Given the description of an element on the screen output the (x, y) to click on. 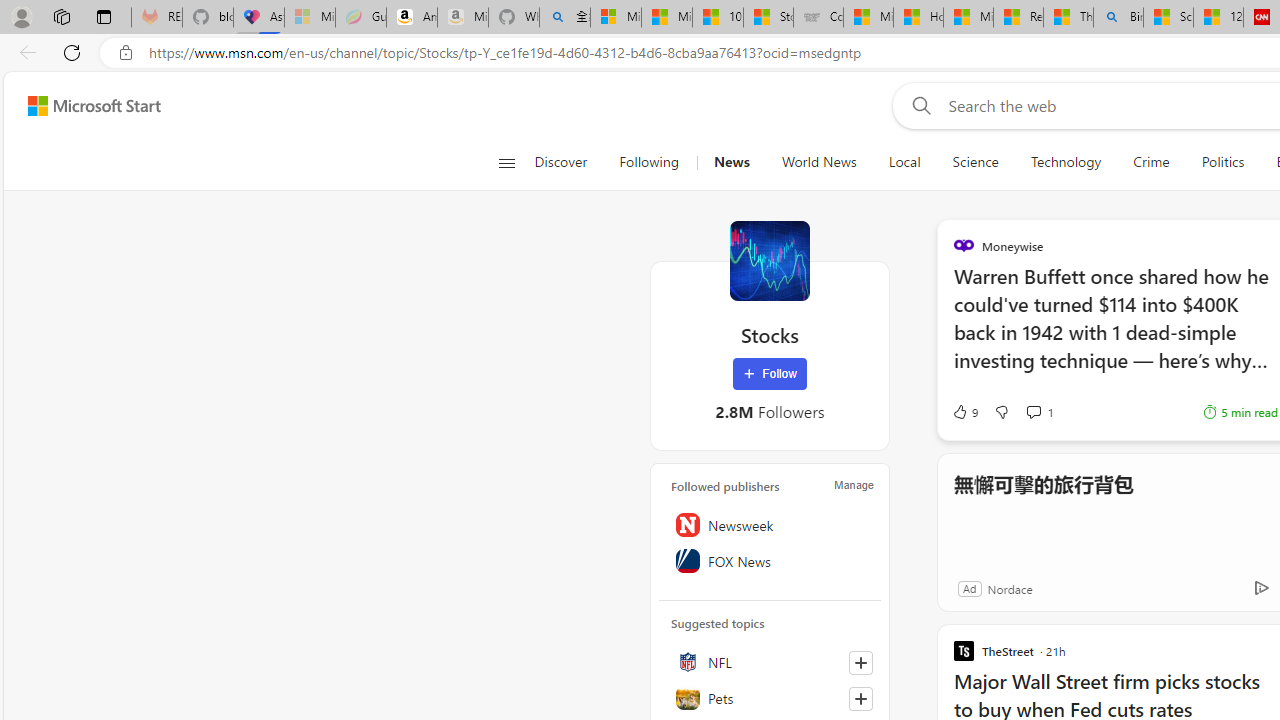
News (731, 162)
Following (649, 162)
News (731, 162)
Ad (969, 588)
Bing (1118, 17)
Politics (1222, 162)
